Given the description of an element on the screen output the (x, y) to click on. 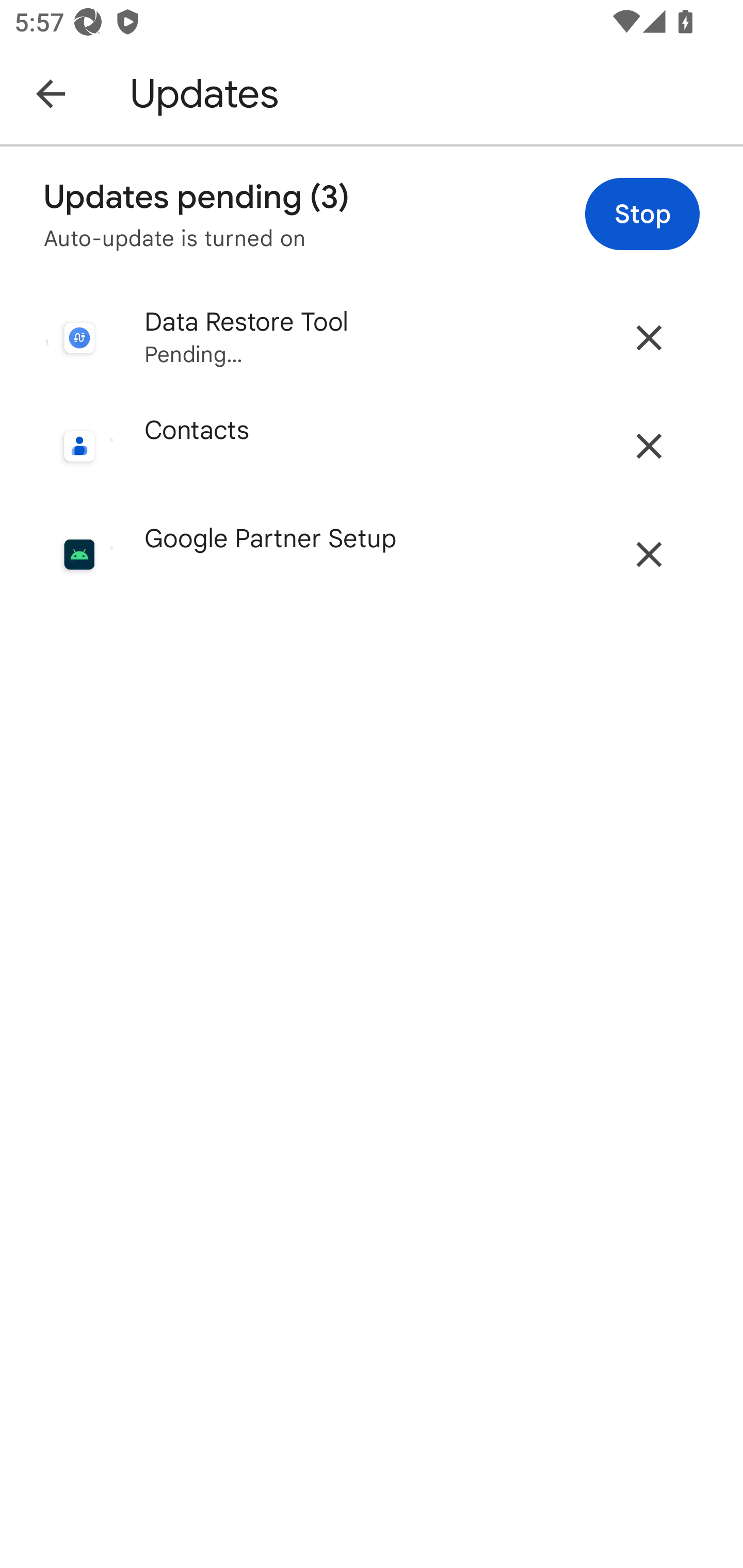
Navigate up (50, 92)
Stop (642, 213)
Cancel (648, 337)
Contacts App: Contacts     Cancel (371, 446)
Cancel (648, 445)
Cancel (648, 554)
